Given the description of an element on the screen output the (x, y) to click on. 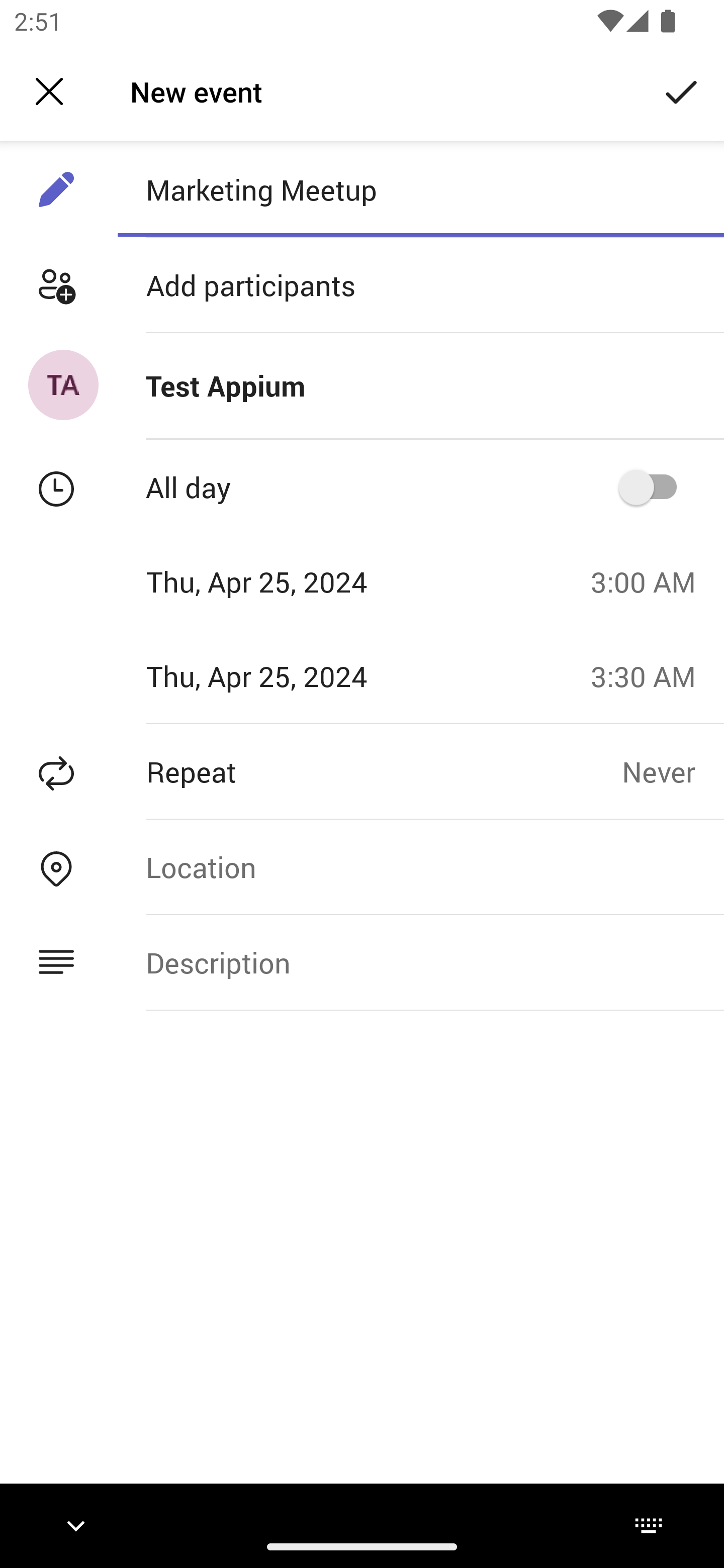
Back (49, 91)
Send invite (681, 90)
Marketing Meetup (420, 189)
Add participants Add participants option (362, 285)
All day (654, 486)
Thu, Apr 25, 2024 Starts Thursday Apr 25, 2024 (288, 581)
3:00 AM Start time 3:00 AM (650, 581)
Thu, Apr 25, 2024 Ends Thursday Apr 25, 2024 (288, 675)
3:30 AM End time 3:30 AM (650, 675)
Repeat (310, 771)
Never Repeat Never (672, 771)
Location (420, 867)
Description (420, 962)
